Given the description of an element on the screen output the (x, y) to click on. 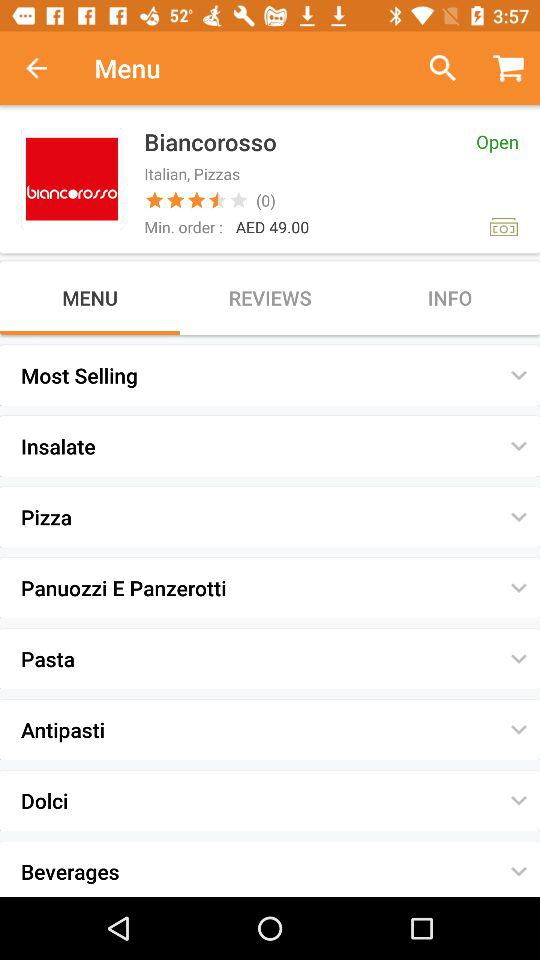
go back (47, 68)
